Given the description of an element on the screen output the (x, y) to click on. 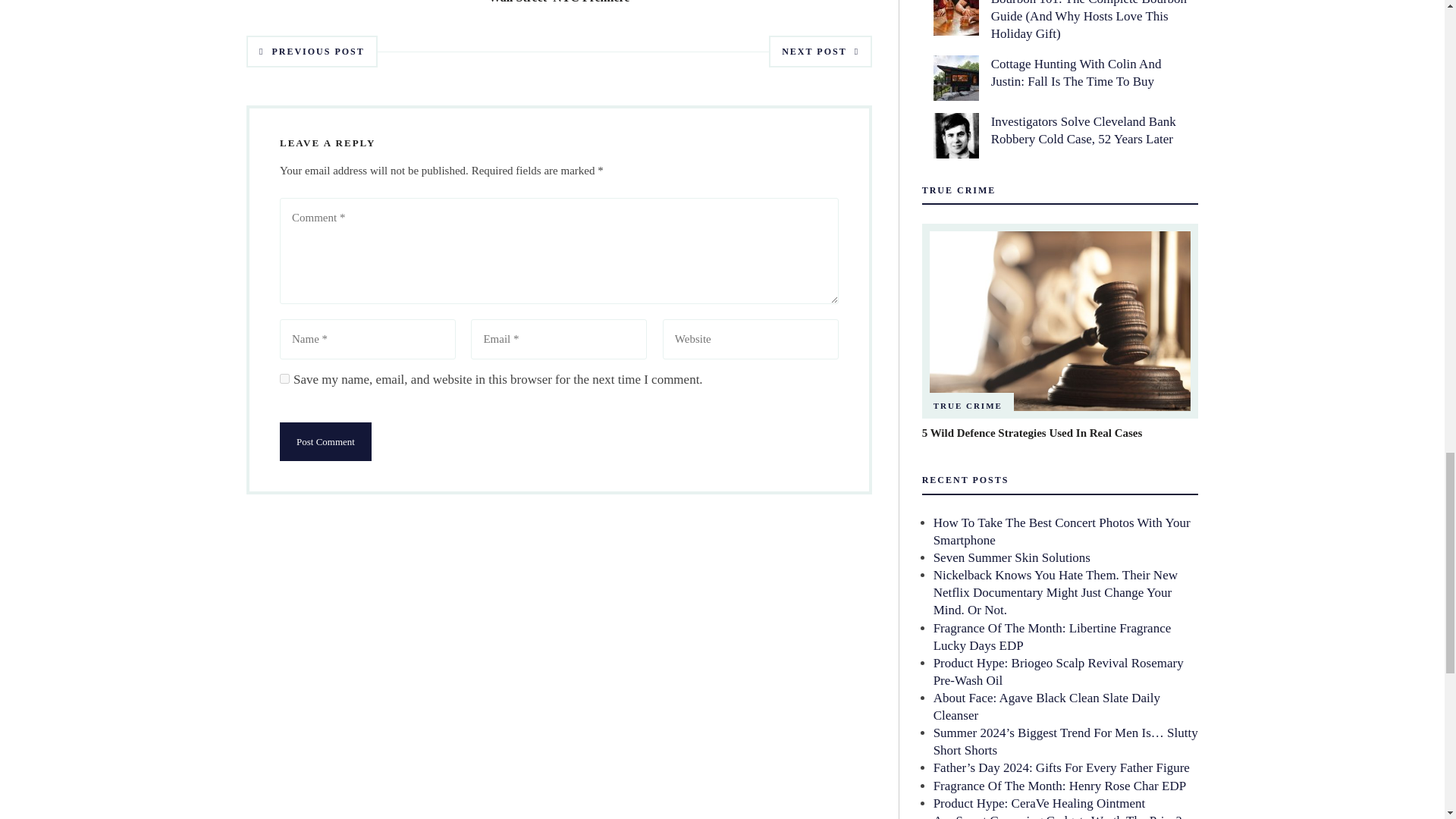
Post Comment (325, 441)
NEXT POST (820, 51)
yes (284, 378)
PREVIOUS POST (311, 51)
